Given the description of an element on the screen output the (x, y) to click on. 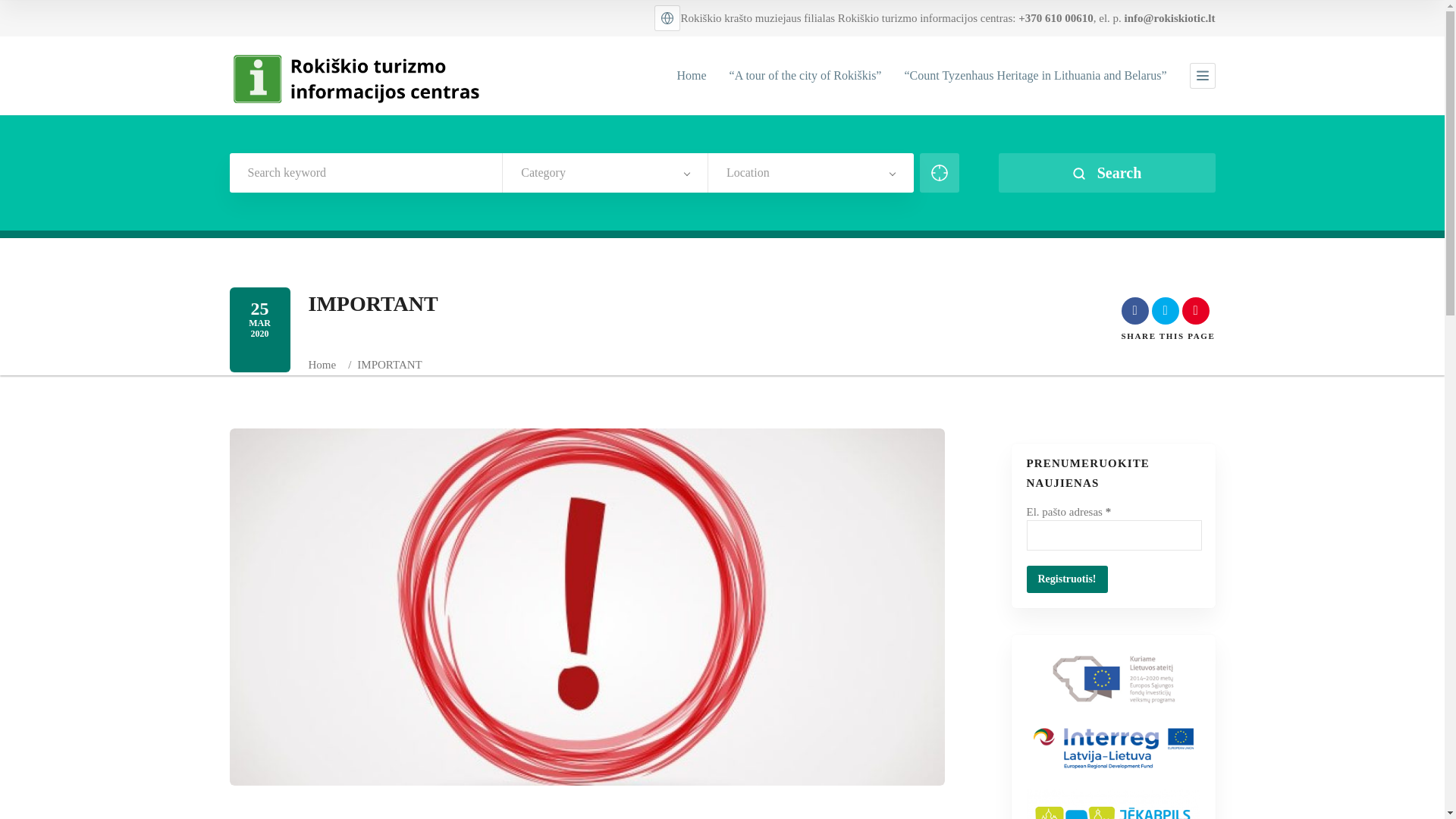
Search (1105, 172)
Search (1105, 172)
Registruotis! (1067, 578)
